Given the description of an element on the screen output the (x, y) to click on. 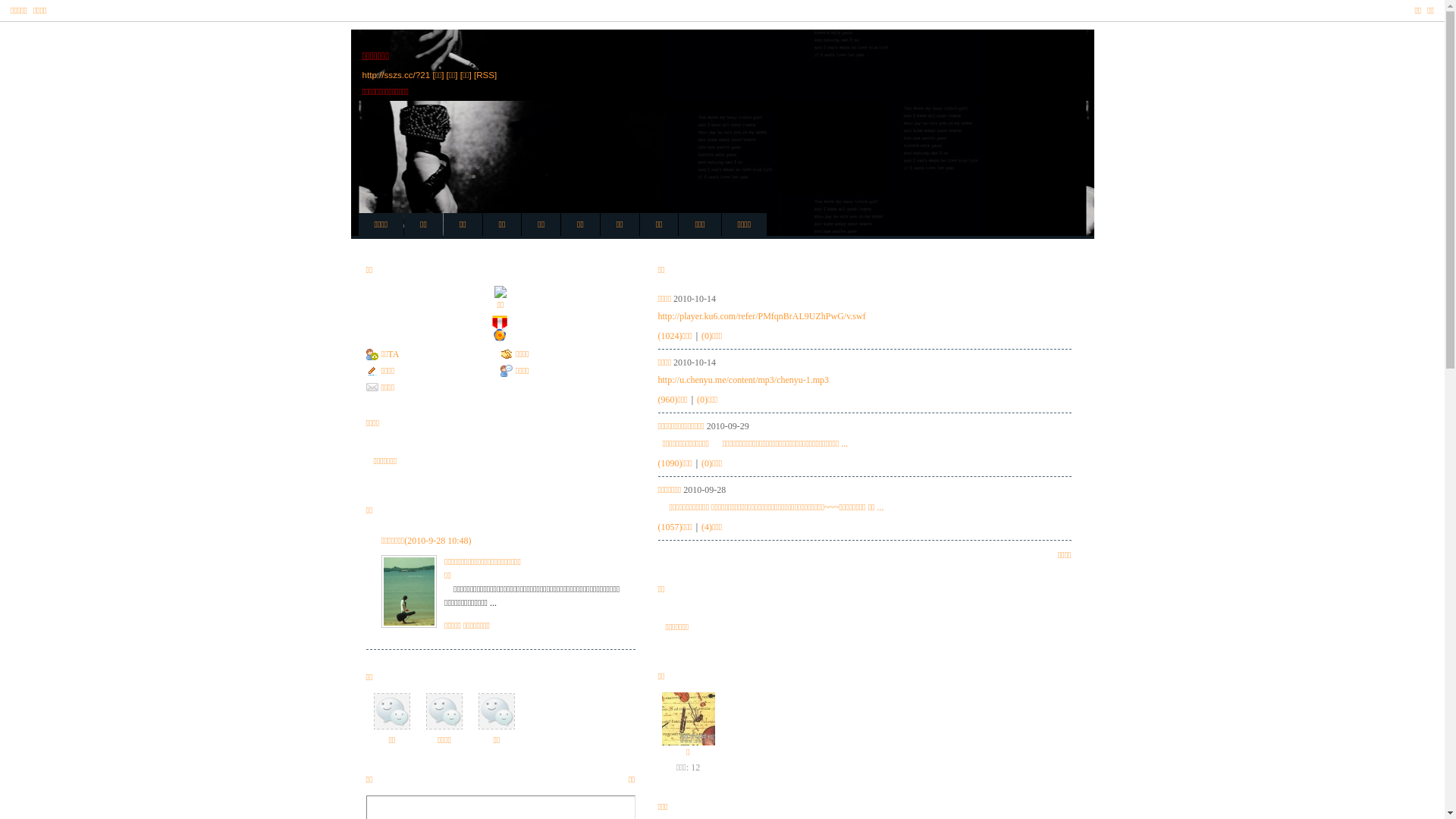
  Element type: text (499, 338)
http://sszs.cc/?21 Element type: text (396, 74)
[RSS] Element type: text (484, 74)
